Given the description of an element on the screen output the (x, y) to click on. 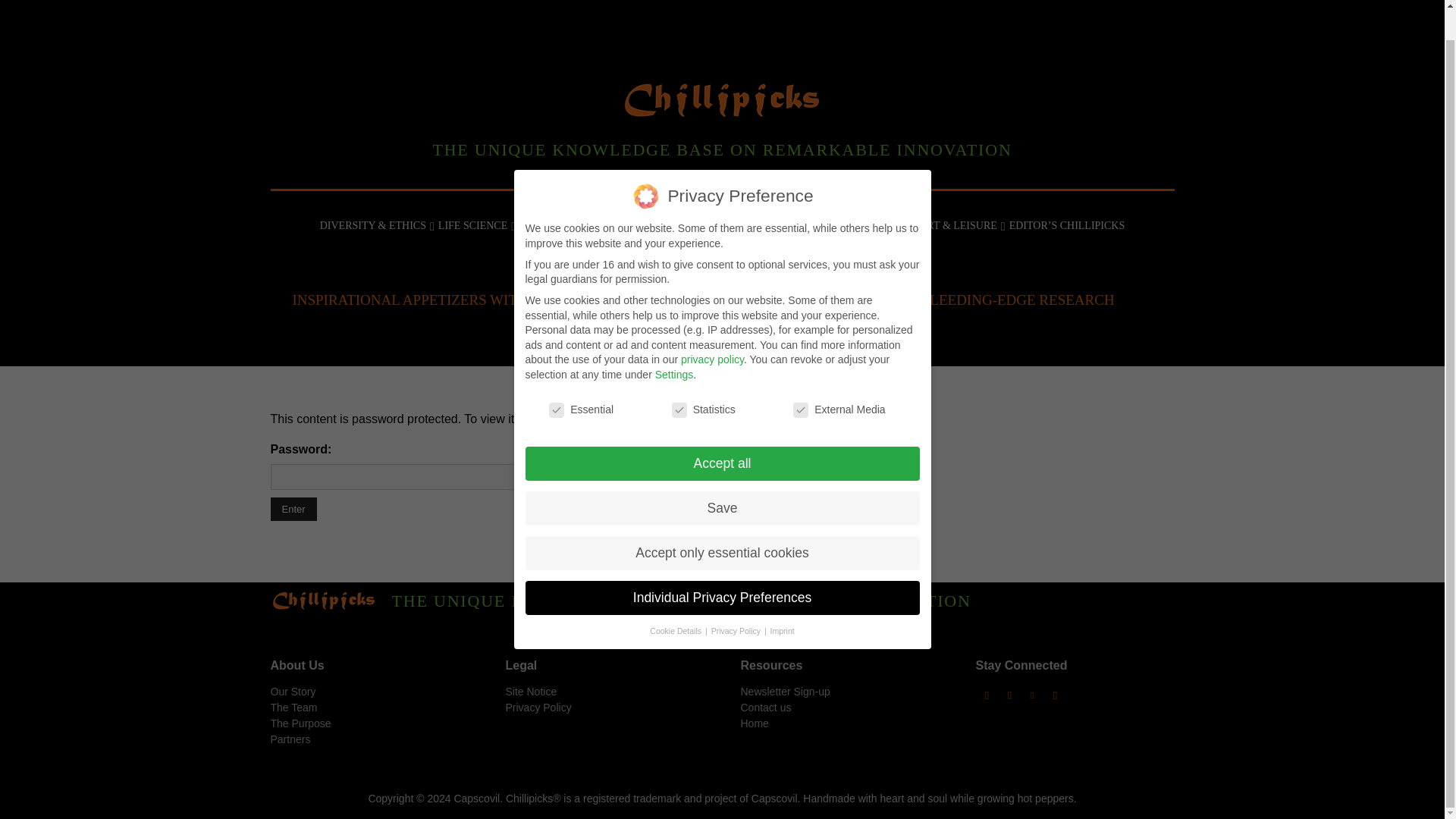
Instagram (1115, 0)
Linkedin (1138, 0)
THE UNIQUE KNOWLEDGE BASE ON IMPACTFUL INNOVATION (721, 112)
Facebook (1093, 0)
Twitter (1161, 0)
Enter (292, 508)
